Given the description of an element on the screen output the (x, y) to click on. 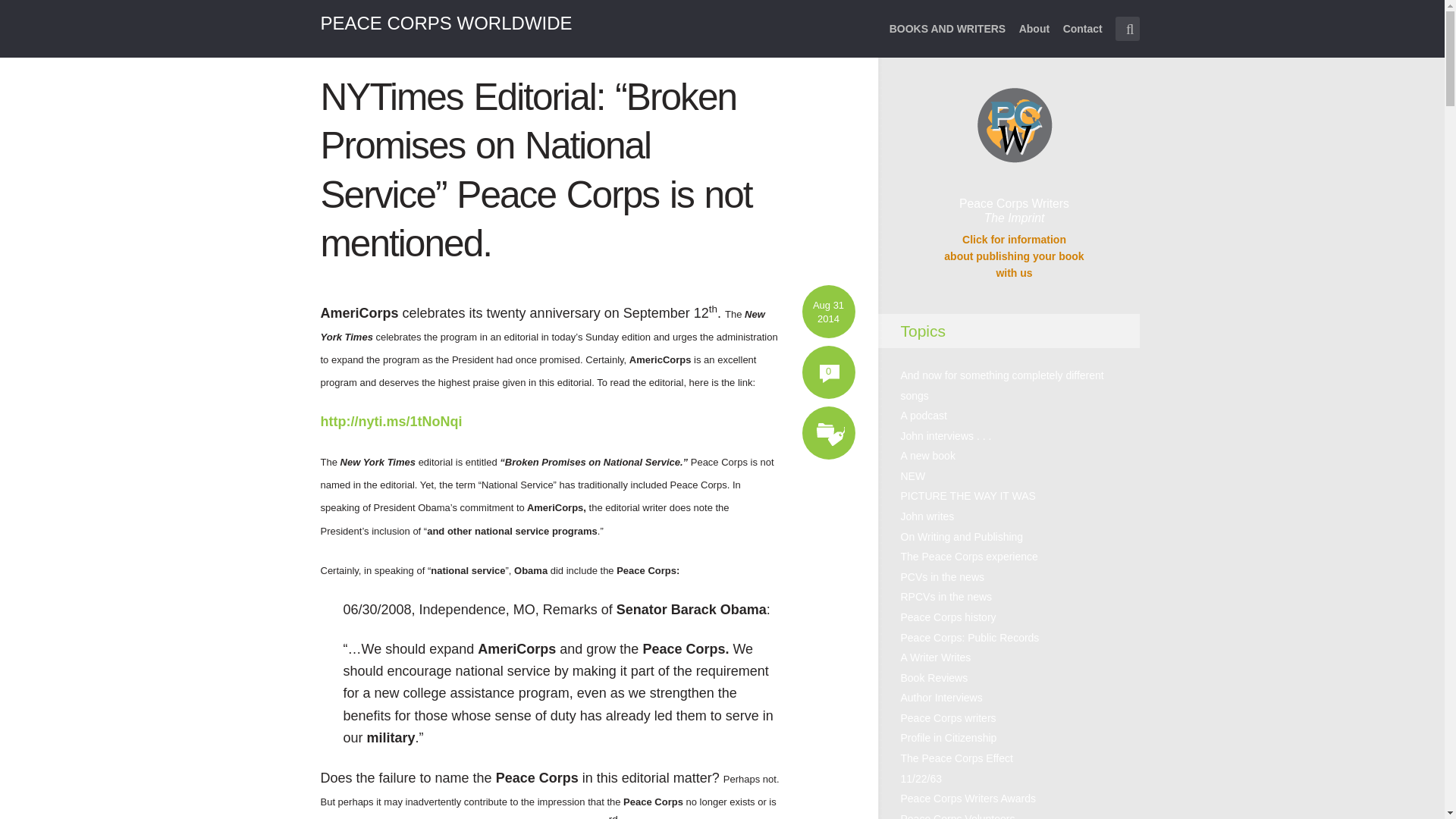
Type here to search... (1126, 28)
Contact (1082, 37)
Peace Corps writers (948, 717)
BOOKS AND WRITERS (947, 37)
PCVs in the news (943, 576)
John interviews . . . (946, 435)
NEW (913, 476)
Book Reviews (934, 677)
PEACE CORPS WORLDWIDE (446, 23)
